Given the description of an element on the screen output the (x, y) to click on. 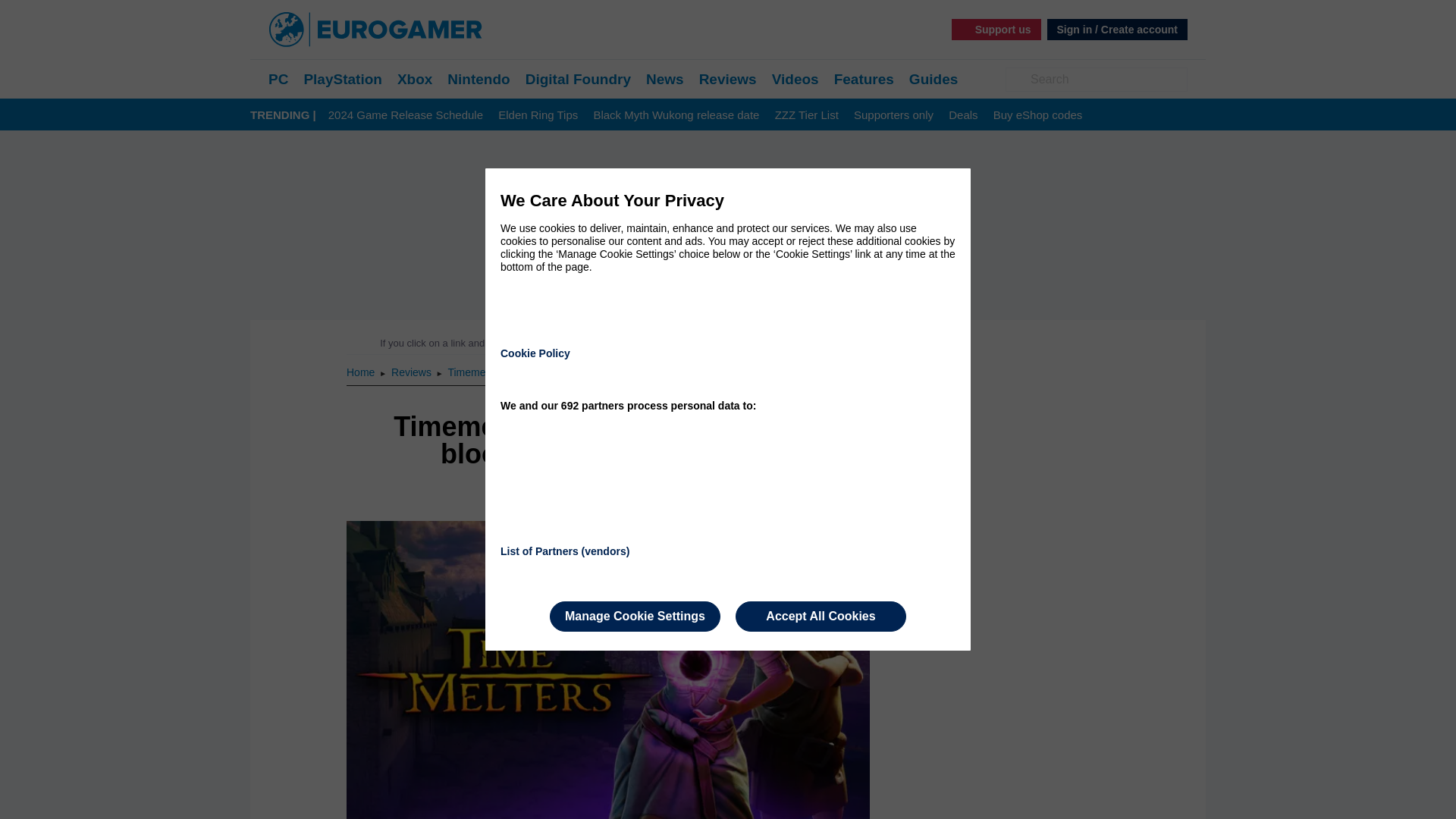
Elden Ring Tips (537, 114)
ZZZ Tier List (806, 114)
ZZZ Tier List (806, 114)
Nintendo (477, 78)
Black Myth Wukong release date (675, 114)
Support us (996, 29)
Black Myth Wukong release date (675, 114)
Home (361, 372)
News (665, 78)
Xbox (414, 78)
